Given the description of an element on the screen output the (x, y) to click on. 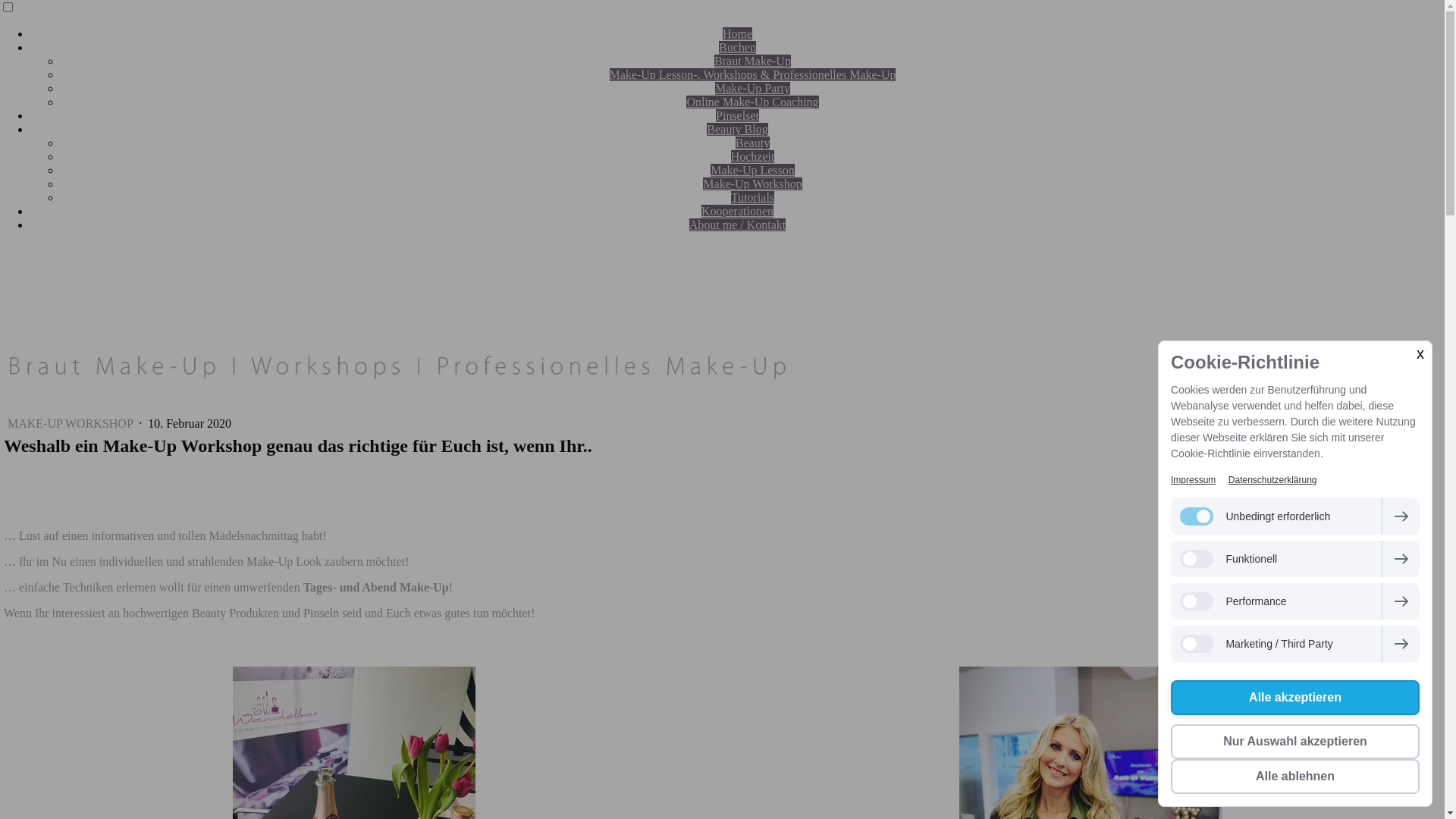
Beauty Element type: text (752, 142)
MAKE-UP WORKSHOP Element type: text (71, 423)
Make-Up Party Element type: text (752, 87)
Buchen Element type: text (737, 46)
Nur Auswahl akzeptieren Element type: text (1294, 741)
Pinselset Element type: text (737, 115)
Make-Up Lesson Element type: text (752, 169)
Impressum Element type: text (1192, 479)
Hochzeit Element type: text (753, 156)
Kooperationen Element type: text (737, 210)
Alle ablehnen Element type: text (1294, 776)
Braut Make-Up Element type: text (752, 60)
Beauty Blog Element type: text (736, 128)
Online Make-Up Coaching Element type: text (752, 101)
Make-Up Lesson-, Workshops & Professionelles Make-Up Element type: text (752, 74)
Tutorials Element type: text (752, 197)
Alle akzeptieren Element type: text (1294, 697)
Make-Up Workshop Element type: text (751, 183)
Home Element type: text (737, 33)
About me / Kontakt Element type: text (737, 224)
